Given the description of an element on the screen output the (x, y) to click on. 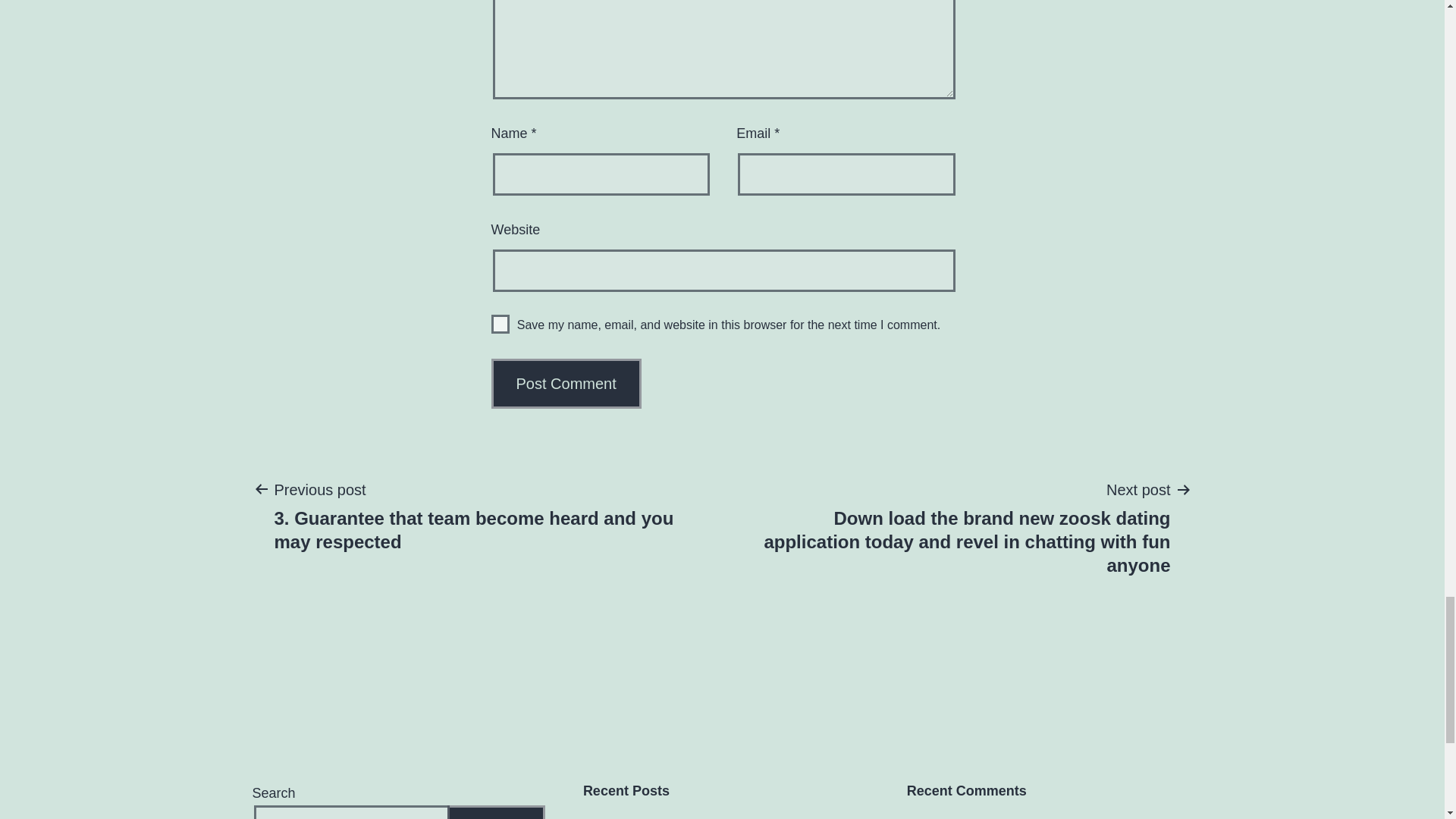
Post Comment (567, 383)
Post Comment (567, 383)
Search (495, 812)
yes (500, 323)
